Given the description of an element on the screen output the (x, y) to click on. 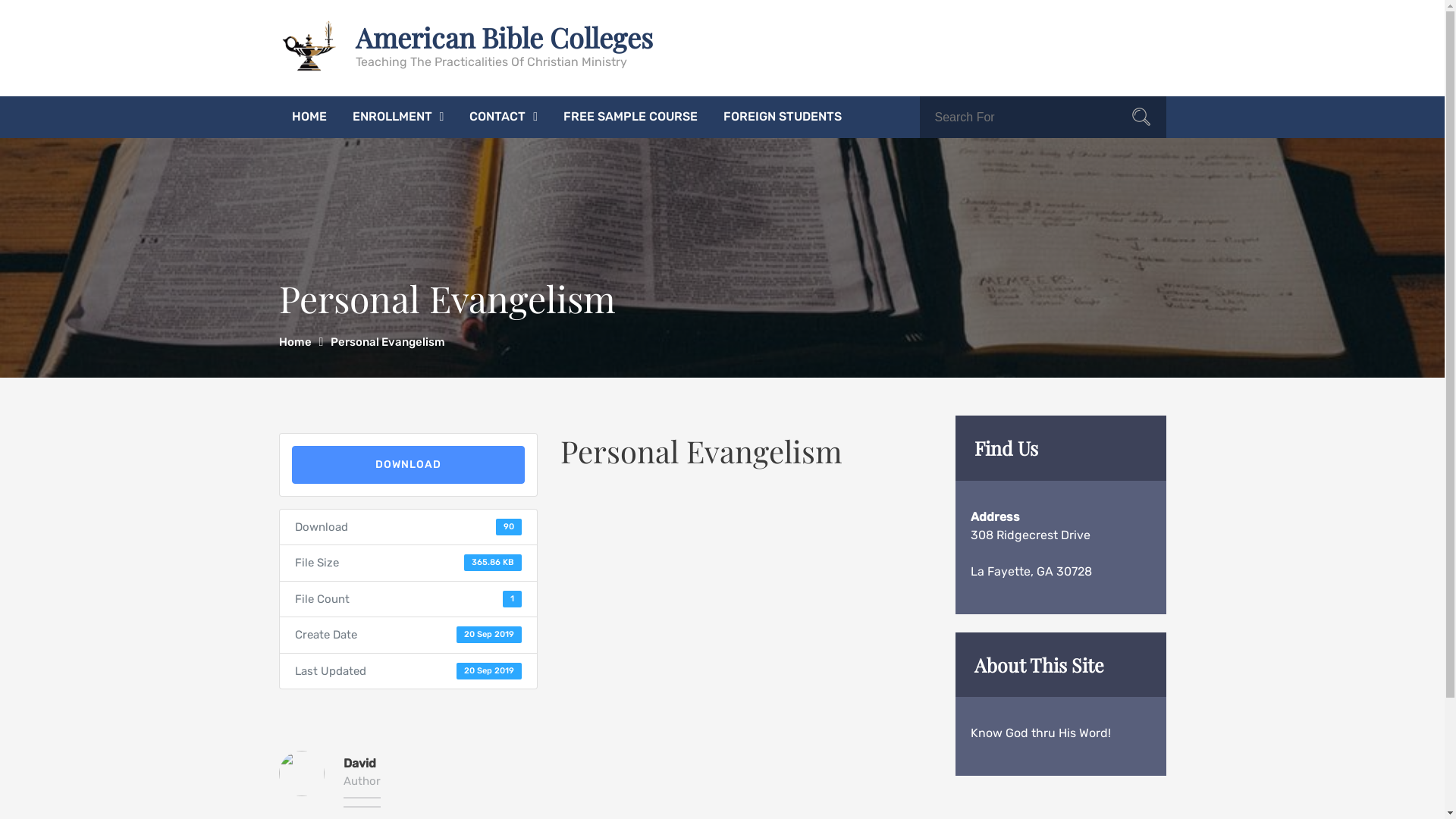
FOREIGN STUDENTS Element type: text (782, 116)
HOME Element type: text (309, 116)
Home Element type: text (301, 341)
FREE SAMPLE COURSE Element type: text (630, 116)
David Element type: text (358, 762)
DOWNLOAD Element type: text (407, 464)
American Bible Colleges Element type: text (503, 36)
ENROLLMENT Element type: text (398, 116)
Search Element type: text (1140, 118)
CONTACT Element type: text (503, 116)
Skip to content Element type: text (0, 0)
